Given the description of an element on the screen output the (x, y) to click on. 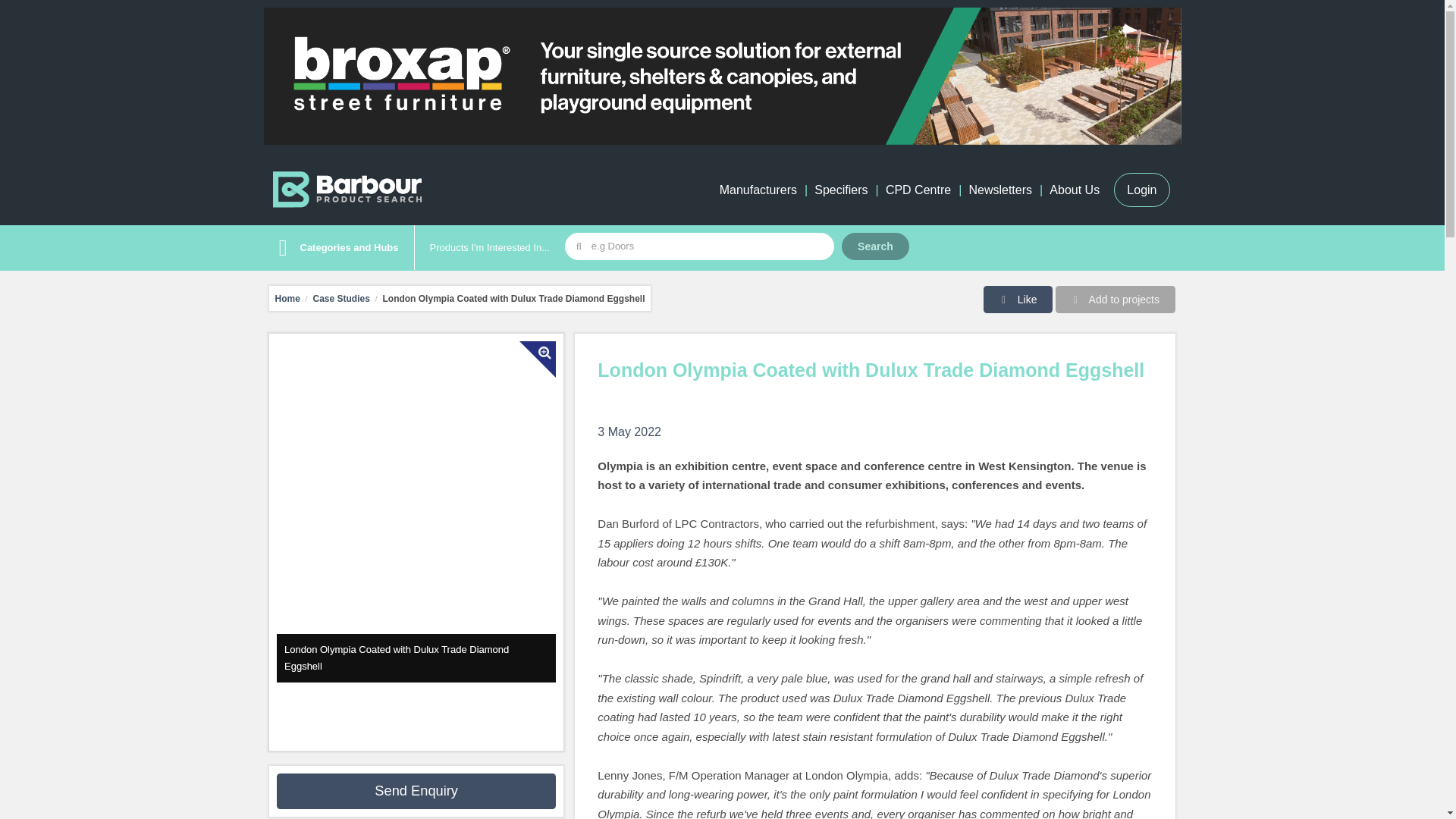
CPD Centre (917, 189)
Categories and Hubs (333, 248)
Newsletters (1000, 189)
Manufacturers (757, 189)
Specifiers (840, 189)
Login (1141, 189)
About Us (1074, 189)
